Given the description of an element on the screen output the (x, y) to click on. 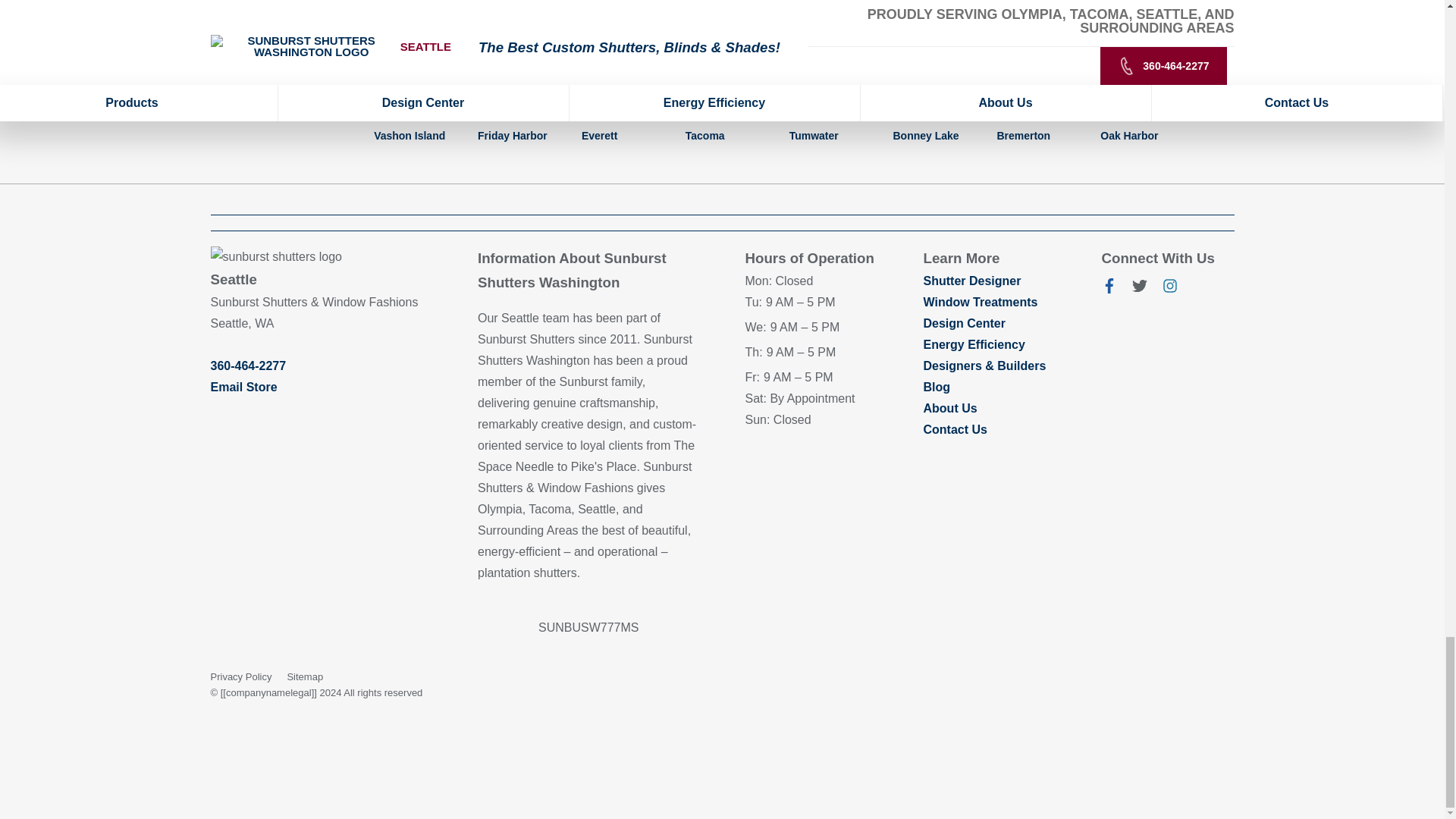
Follow us on Instagram (1168, 288)
Follow us on Twitter (1139, 288)
Like us on Facebook (1108, 288)
